Given the description of an element on the screen output the (x, y) to click on. 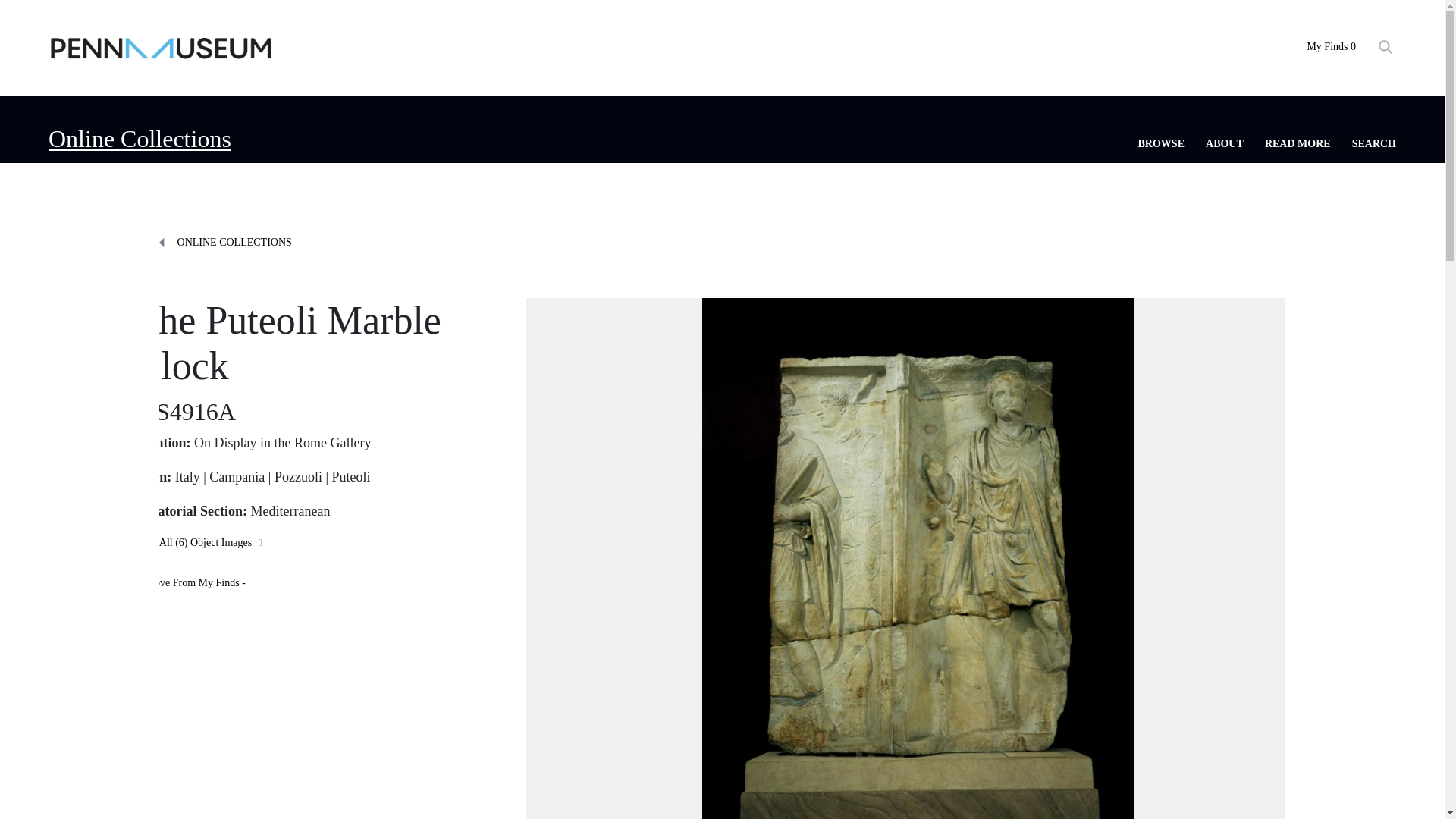
SEARCH (1374, 143)
READ MORE (1297, 143)
BROWSE (1161, 143)
ABOUT (1224, 143)
My Finds 0 (1330, 46)
Online Collections (139, 138)
